Given the description of an element on the screen output the (x, y) to click on. 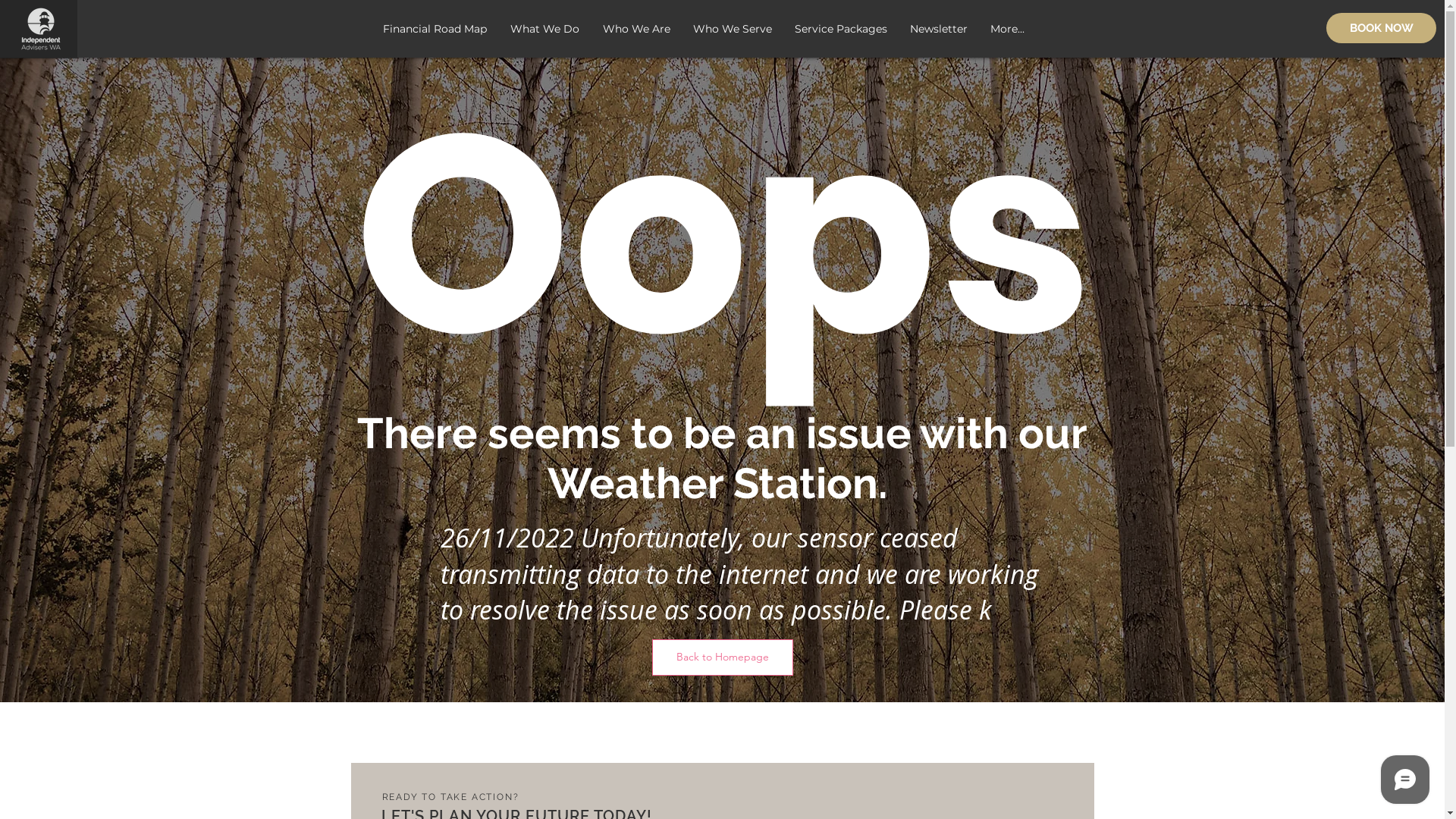
Who We Serve Element type: text (731, 28)
What We Do Element type: text (544, 28)
Newsletter Element type: text (937, 28)
BOOK NOW Element type: text (1381, 27)
Financial Road Map Element type: text (434, 28)
Back to Homepage Element type: text (722, 657)
Service Packages Element type: text (839, 28)
Who We Are Element type: text (636, 28)
